Given the description of an element on the screen output the (x, y) to click on. 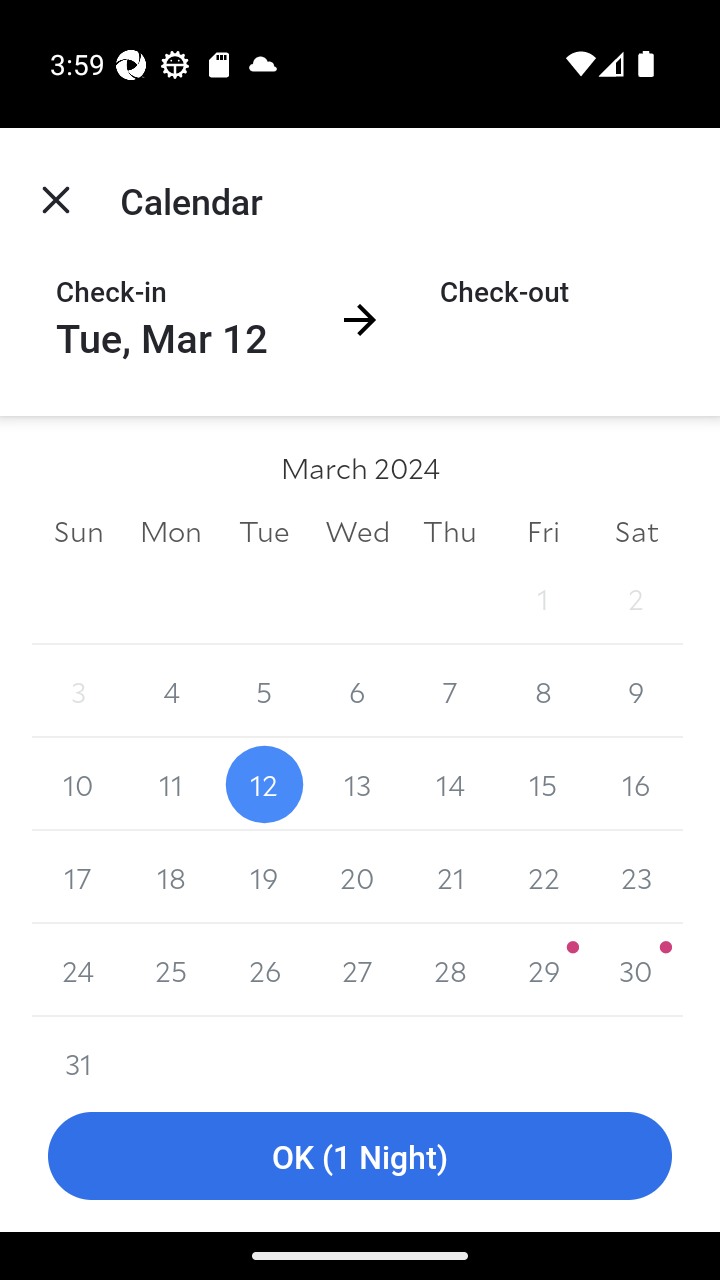
Sun (78, 530)
Mon (171, 530)
Tue (264, 530)
Wed (357, 530)
Thu (449, 530)
Fri (542, 530)
Sat (636, 530)
1 1 March 2024 (542, 598)
2 2 March 2024 (636, 598)
3 3 March 2024 (78, 691)
4 4 March 2024 (171, 691)
5 5 March 2024 (264, 691)
6 6 March 2024 (357, 691)
7 7 March 2024 (449, 691)
8 8 March 2024 (542, 691)
9 9 March 2024 (636, 691)
10 10 March 2024 (78, 784)
11 11 March 2024 (171, 784)
12 12 March 2024 (264, 784)
13 13 March 2024 (357, 784)
14 14 March 2024 (449, 784)
15 15 March 2024 (542, 784)
16 16 March 2024 (636, 784)
17 17 March 2024 (78, 877)
18 18 March 2024 (171, 877)
19 19 March 2024 (264, 877)
20 20 March 2024 (357, 877)
21 21 March 2024 (449, 877)
22 22 March 2024 (542, 877)
23 23 March 2024 (636, 877)
24 24 March 2024 (78, 970)
25 25 March 2024 (171, 970)
26 26 March 2024 (264, 970)
27 27 March 2024 (357, 970)
28 28 March 2024 (449, 970)
29 29 March 2024 (542, 970)
30 30 March 2024 (636, 970)
31 31 March 2024 (78, 1048)
OK (1 Night) (359, 1156)
